Given the description of an element on the screen output the (x, y) to click on. 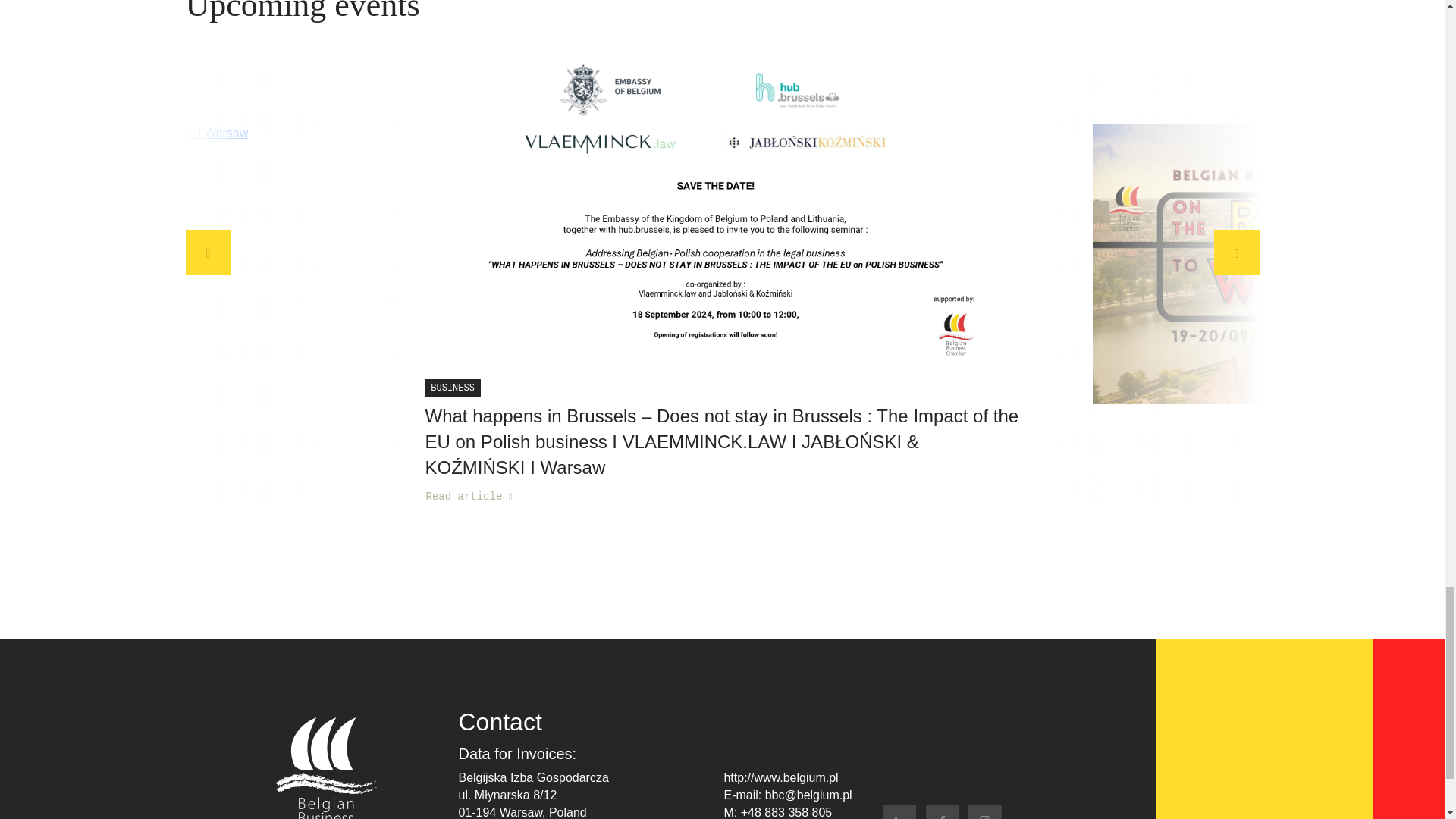
Read article (468, 496)
